Given the description of an element on the screen output the (x, y) to click on. 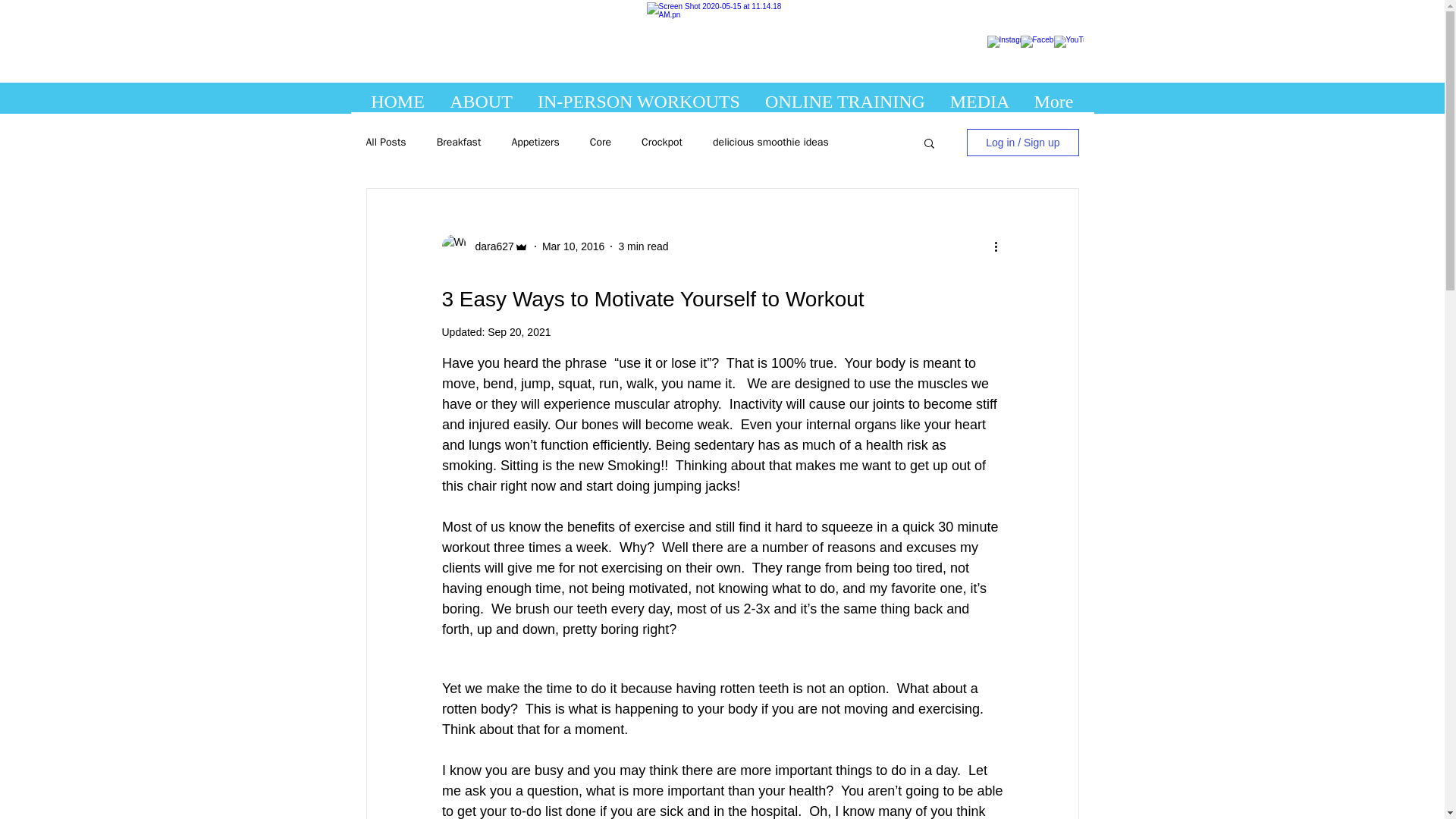
Appetizers (535, 142)
Crockpot (662, 142)
Breakfast (458, 142)
dara627 (489, 245)
Mar 10, 2016 (573, 245)
delicious smoothie ideas (770, 142)
HOME (397, 98)
ABOUT (480, 98)
All Posts (385, 142)
MEDIA (979, 98)
